Given the description of an element on the screen output the (x, y) to click on. 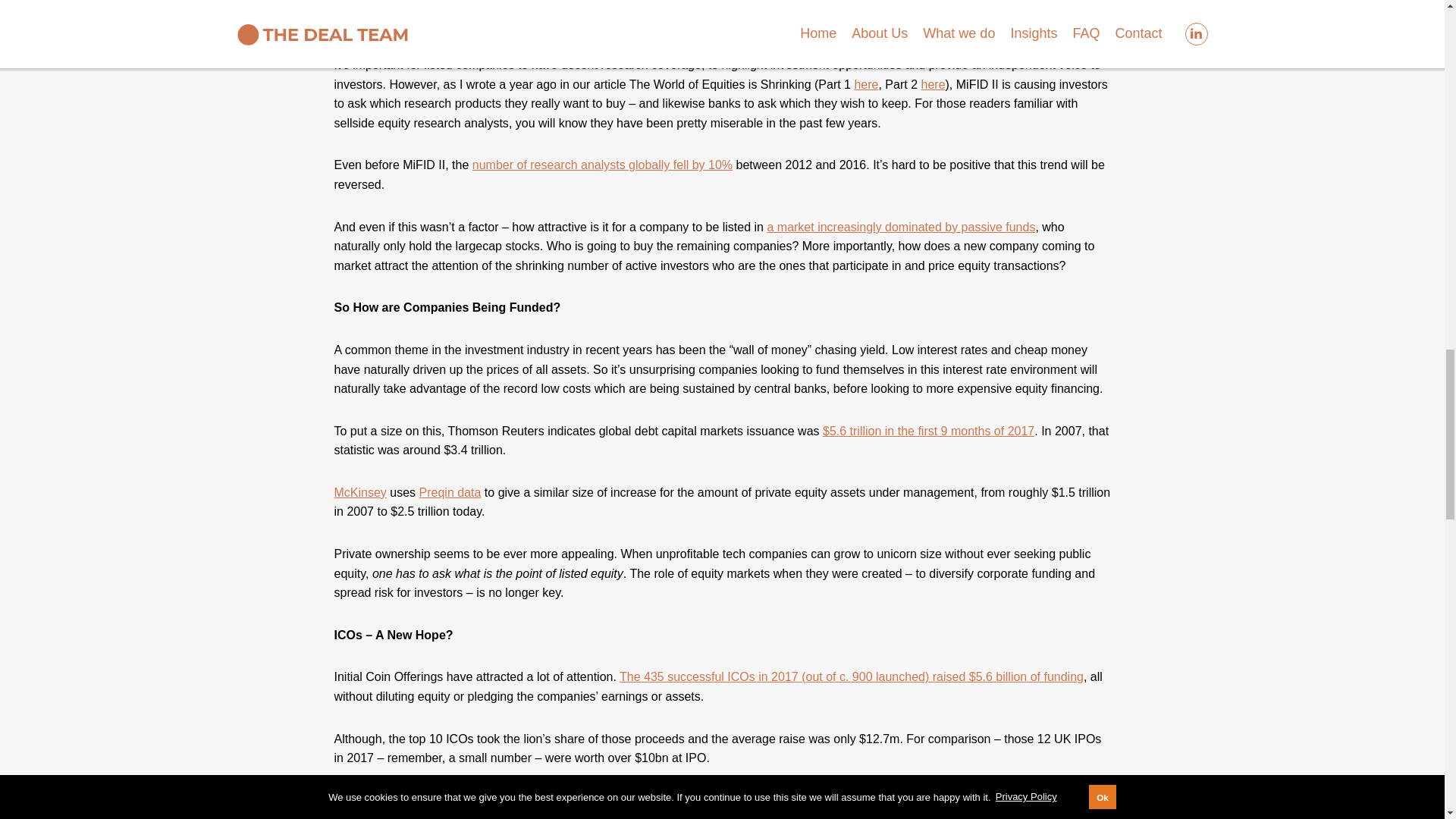
1.66 million in 2002 (830, 97)
Preqin data (450, 508)
here (865, 171)
here (932, 151)
3.7 million in 2017 (406, 90)
McKinsey (359, 517)
a market increasingly dominated by passive funds (901, 269)
